Given the description of an element on the screen output the (x, y) to click on. 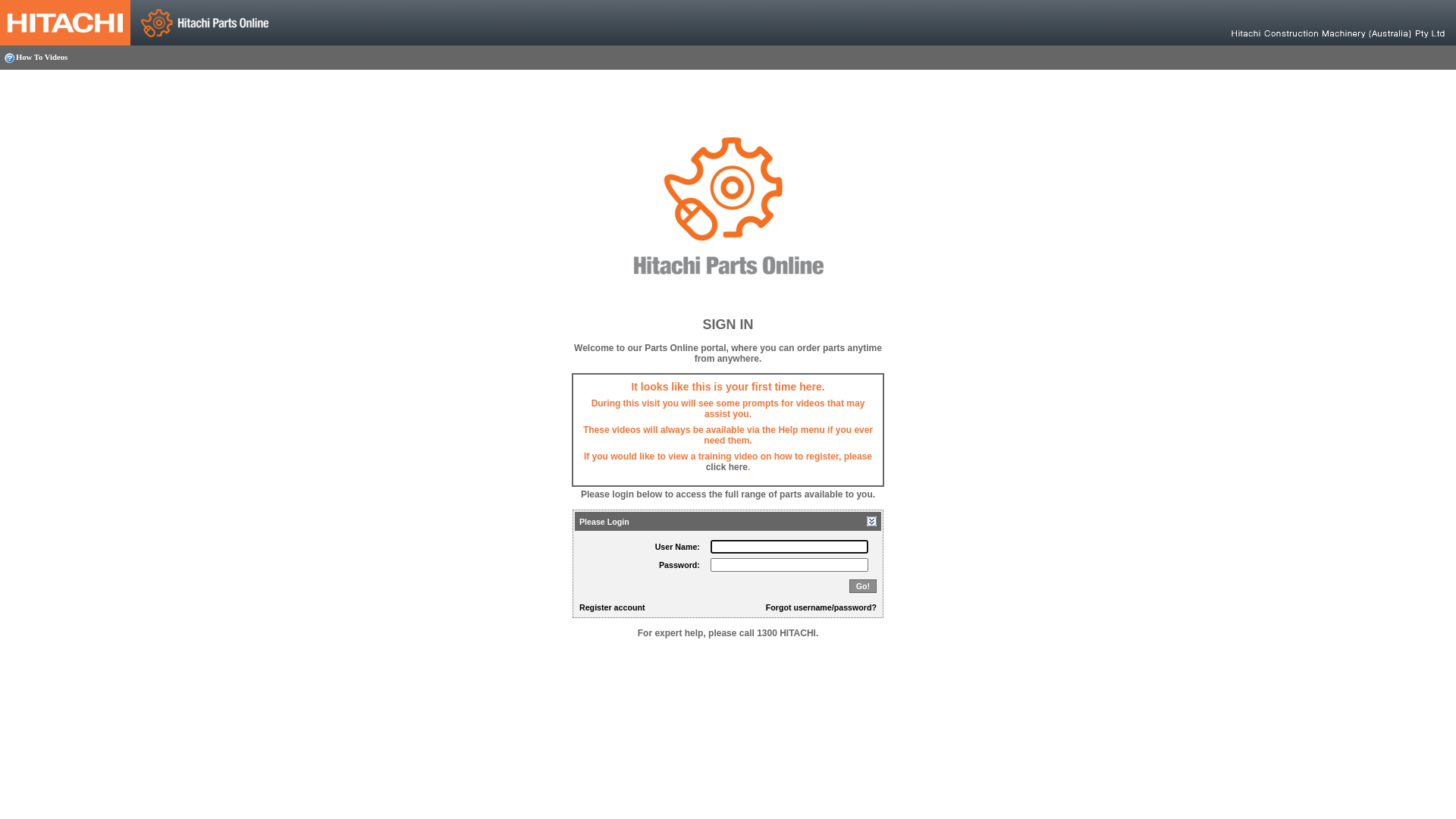
Register account Element type: text (611, 606)
Forgot username/password? Element type: text (820, 606)
click here Element type: text (726, 466)
Go! Element type: text (862, 586)
More Options Element type: hover (871, 521)
How To Videos Element type: text (35, 57)
